Given the description of an element on the screen output the (x, y) to click on. 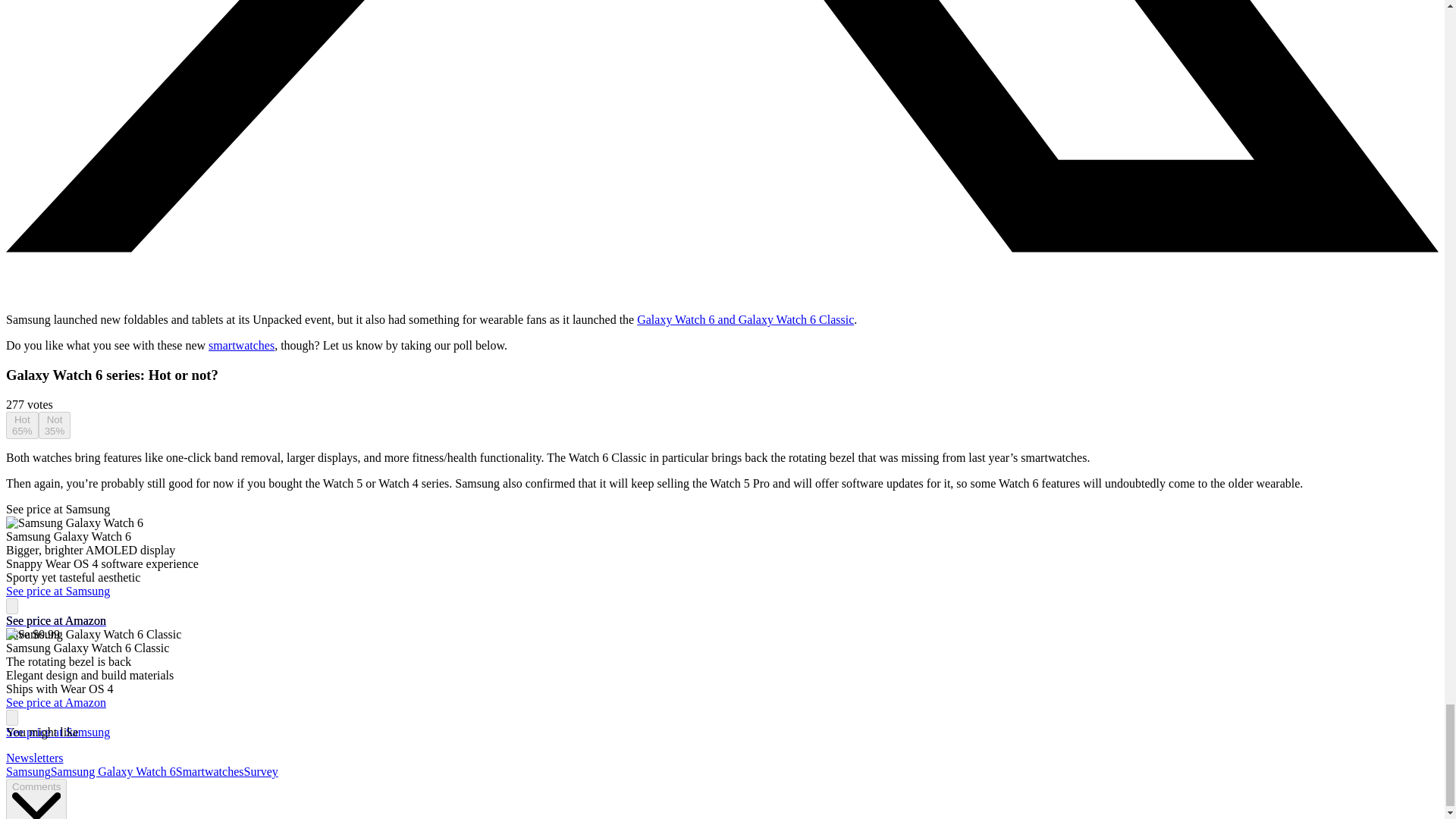
See price at Samsung (57, 508)
smartwatches (241, 345)
Survey (260, 771)
Newsletters (34, 757)
Samsung (27, 771)
Smartwatches (210, 771)
See price at Amazon (55, 620)
Galaxy Watch 6 and Galaxy Watch 6 Classic (745, 318)
Samsung Galaxy Watch 6 (113, 771)
